Given the description of an element on the screen output the (x, y) to click on. 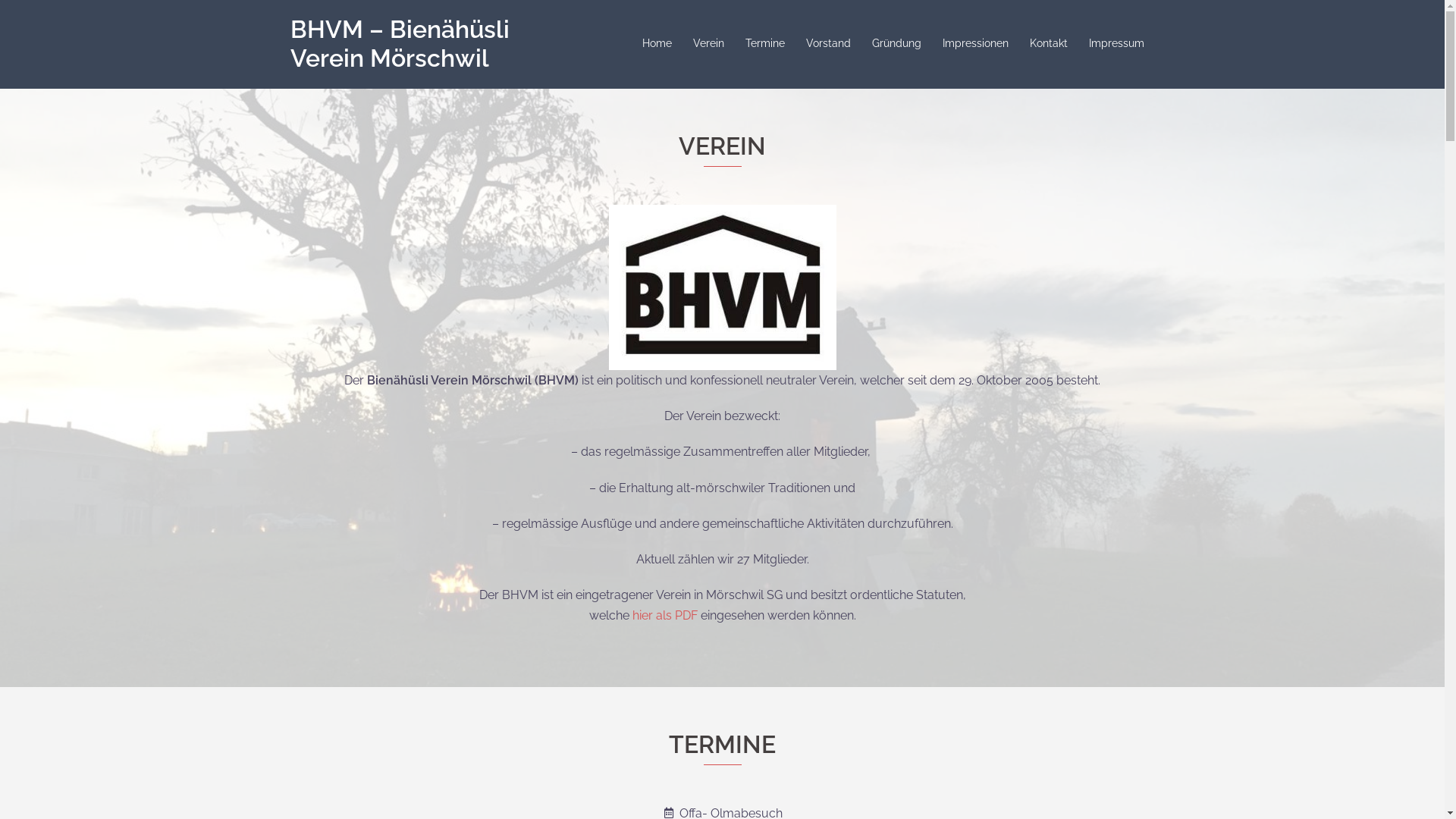
Verein Element type: text (708, 43)
Termine Element type: text (764, 43)
Impressionen Element type: text (974, 43)
Impressum Element type: text (1116, 43)
Home Element type: text (656, 43)
hier als PDF Element type: text (664, 615)
Kontakt Element type: text (1048, 43)
Vorstand Element type: text (827, 43)
